Given the description of an element on the screen output the (x, y) to click on. 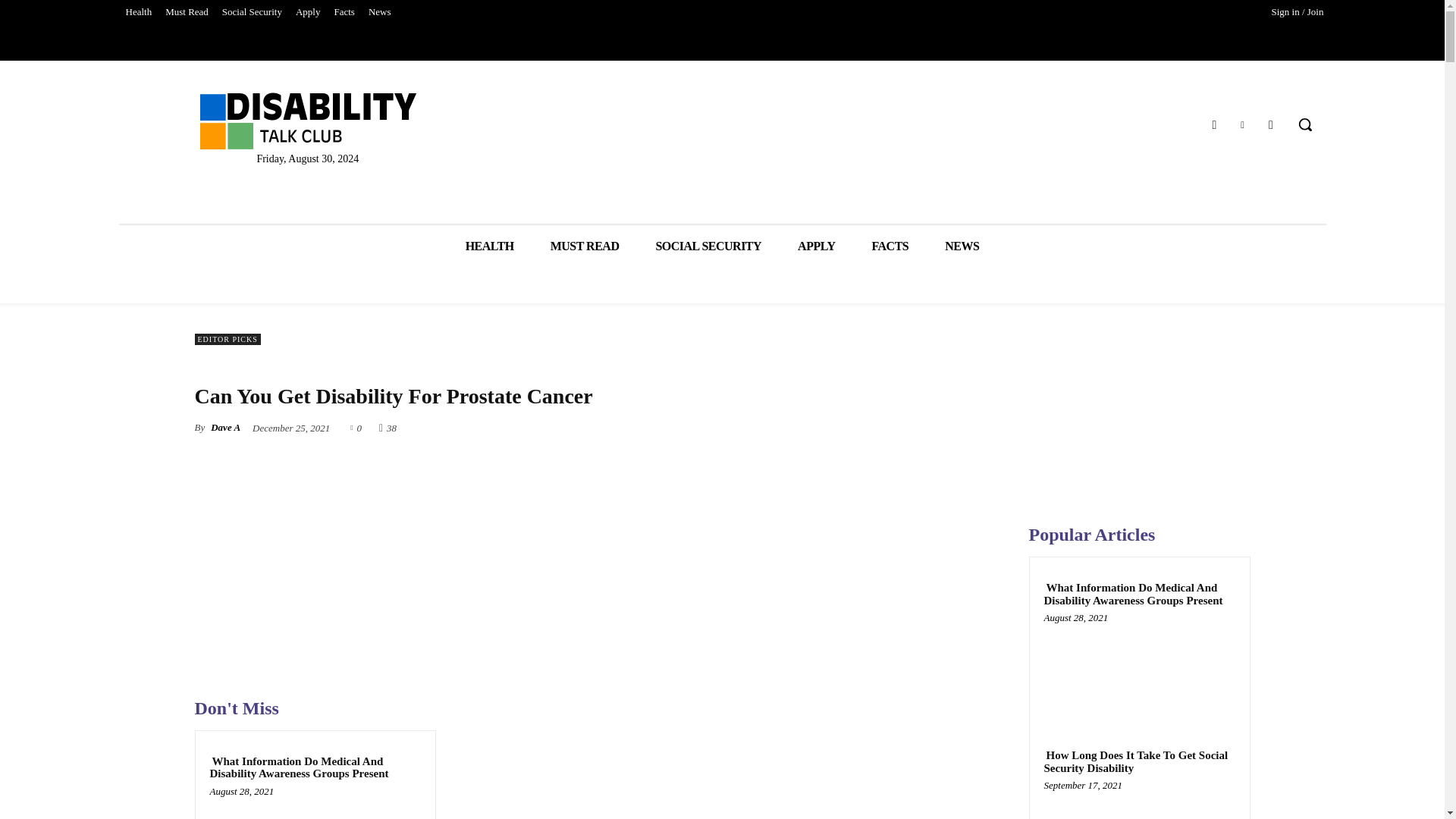
HEALTH (489, 245)
SOCIAL SECURITY (707, 245)
Twitter (1241, 124)
NEWS (961, 245)
Youtube (1270, 124)
Health (137, 12)
Must Read (186, 12)
Social Security (251, 12)
FACTS (889, 245)
APPLY (815, 245)
